Given the description of an element on the screen output the (x, y) to click on. 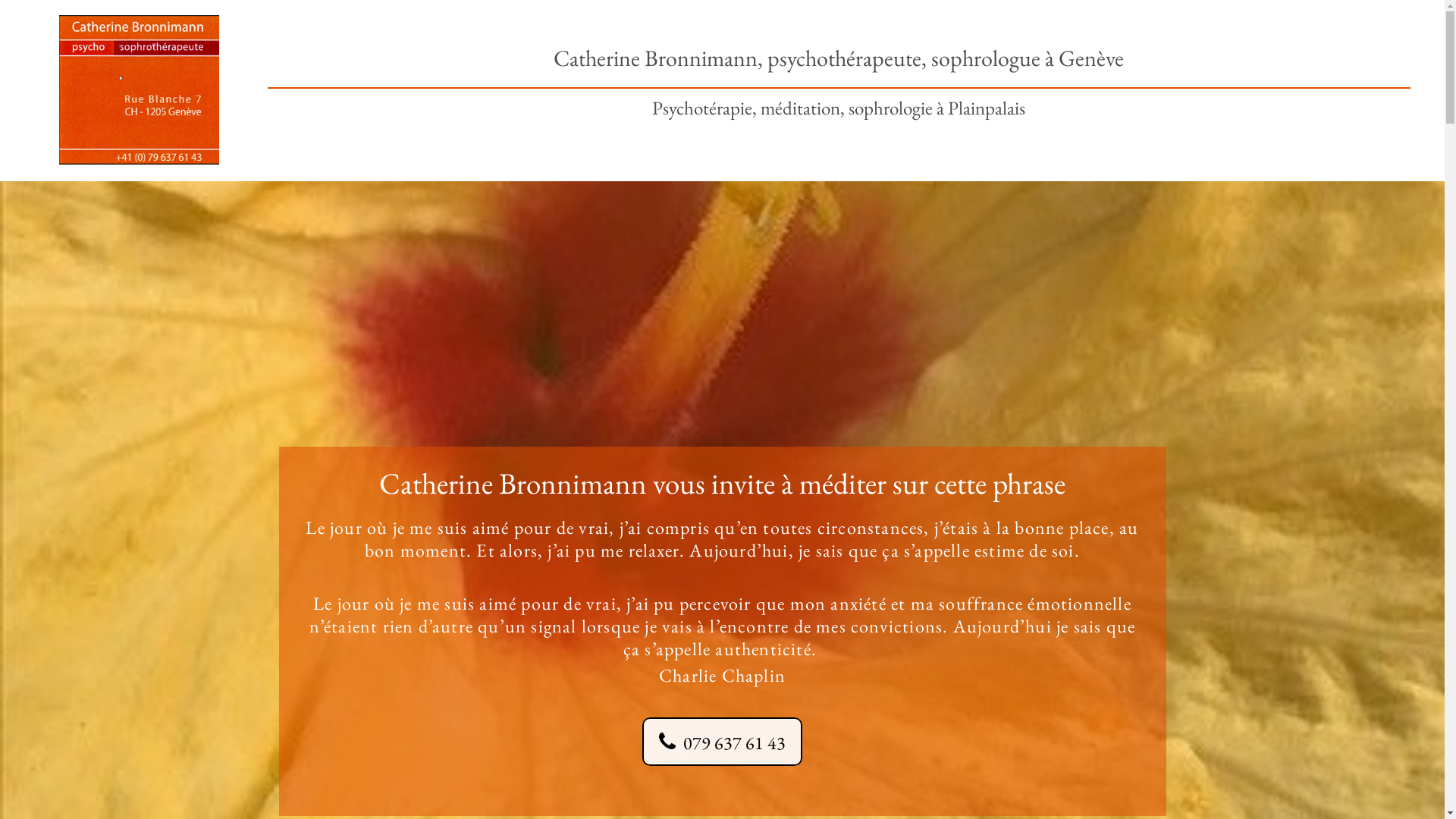
079 637 61 43 Element type: text (722, 741)
